Given the description of an element on the screen output the (x, y) to click on. 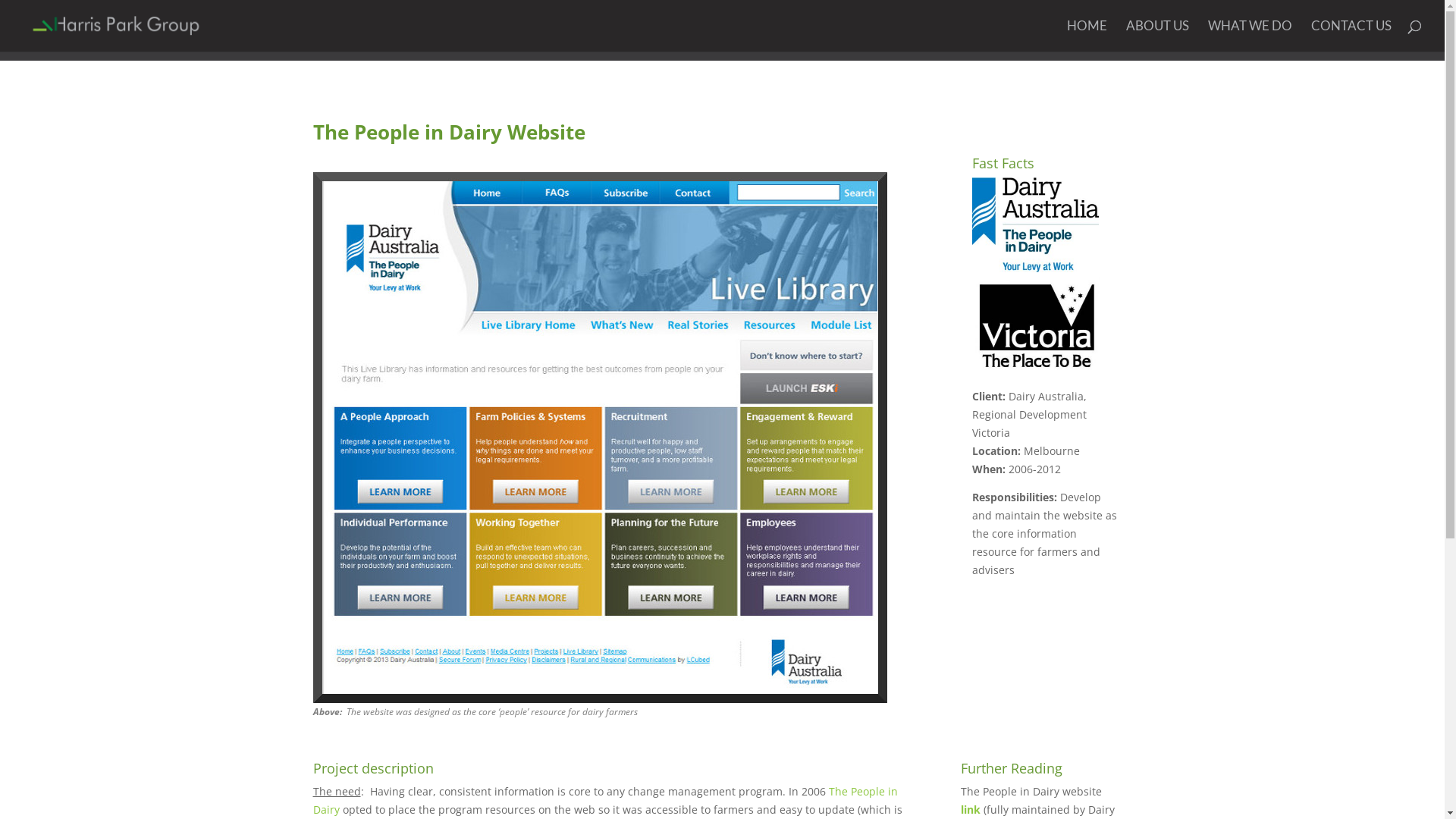
link Element type: text (970, 809)
The People in Dairy Element type: text (604, 800)
CONTACT US Element type: text (1351, 35)
WHAT WE DO Element type: text (1250, 35)
HOME Element type: text (1086, 35)
ABOUT US Element type: text (1157, 35)
